Given the description of an element on the screen output the (x, y) to click on. 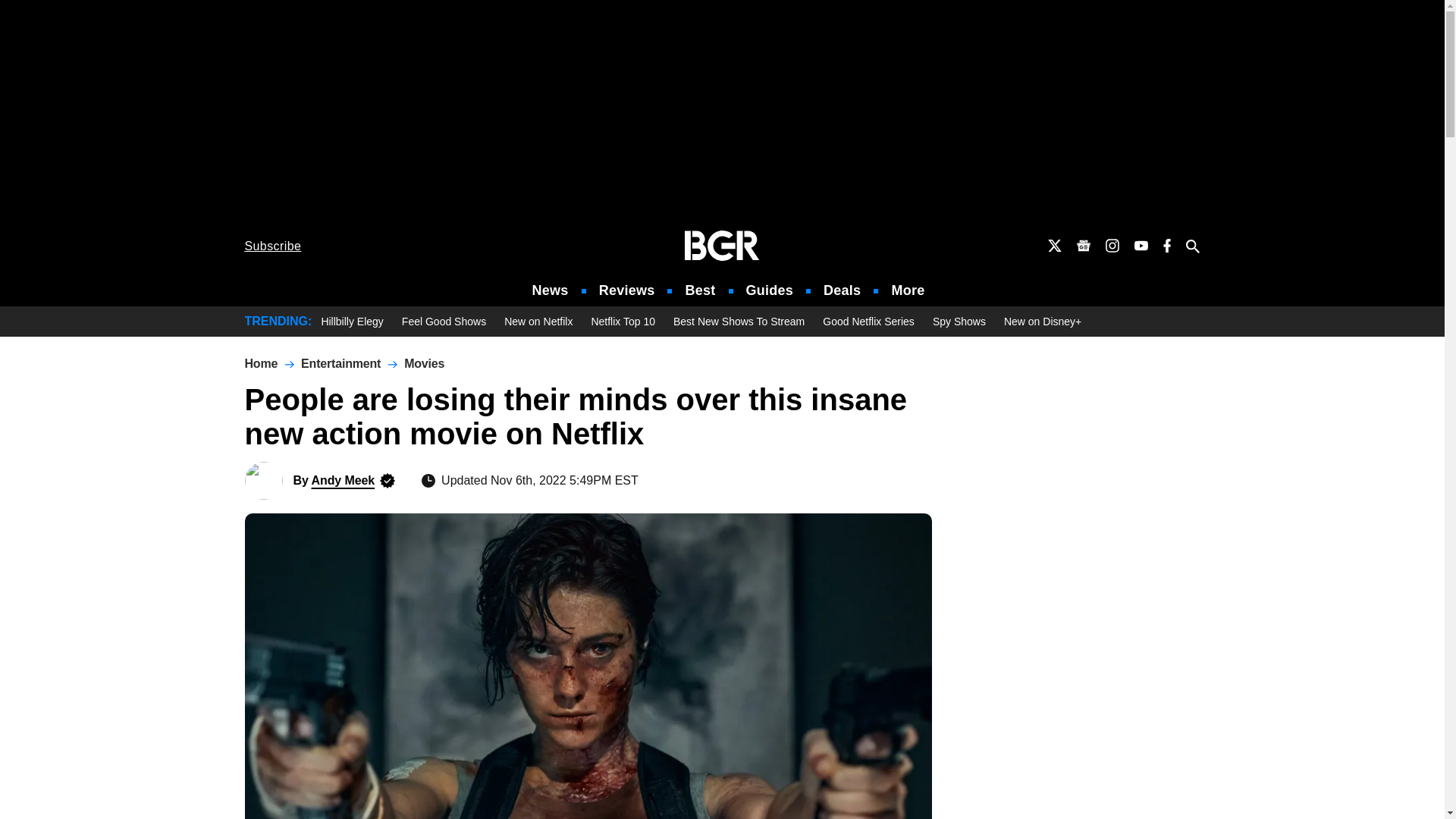
News (550, 290)
More (907, 290)
Guides (769, 290)
Reviews (626, 290)
Subscribe (272, 245)
Deals (842, 290)
Best (699, 290)
Posts by Andy Meek (343, 480)
